Given the description of an element on the screen output the (x, y) to click on. 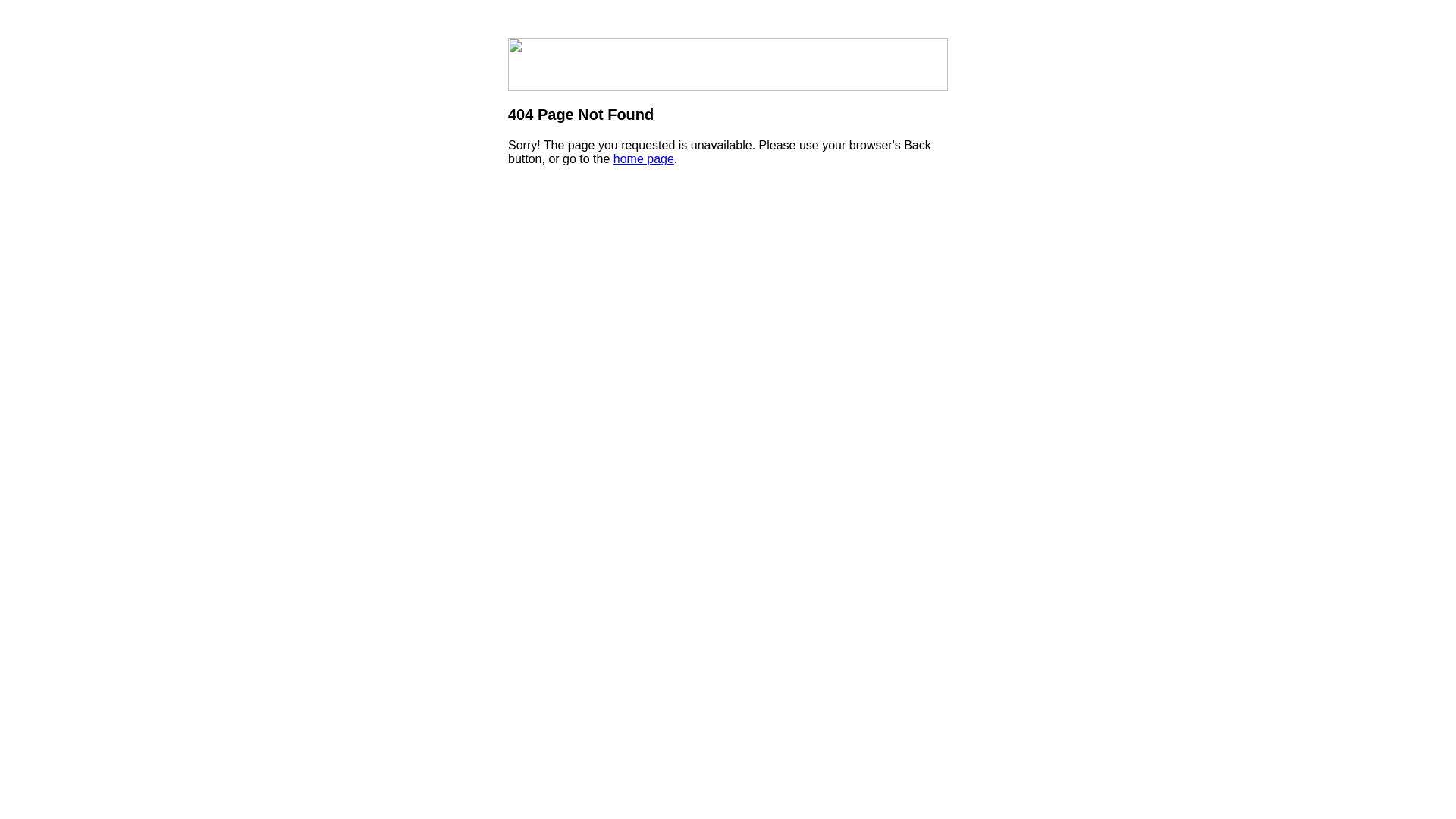
home page Element type: text (643, 158)
